Given the description of an element on the screen output the (x, y) to click on. 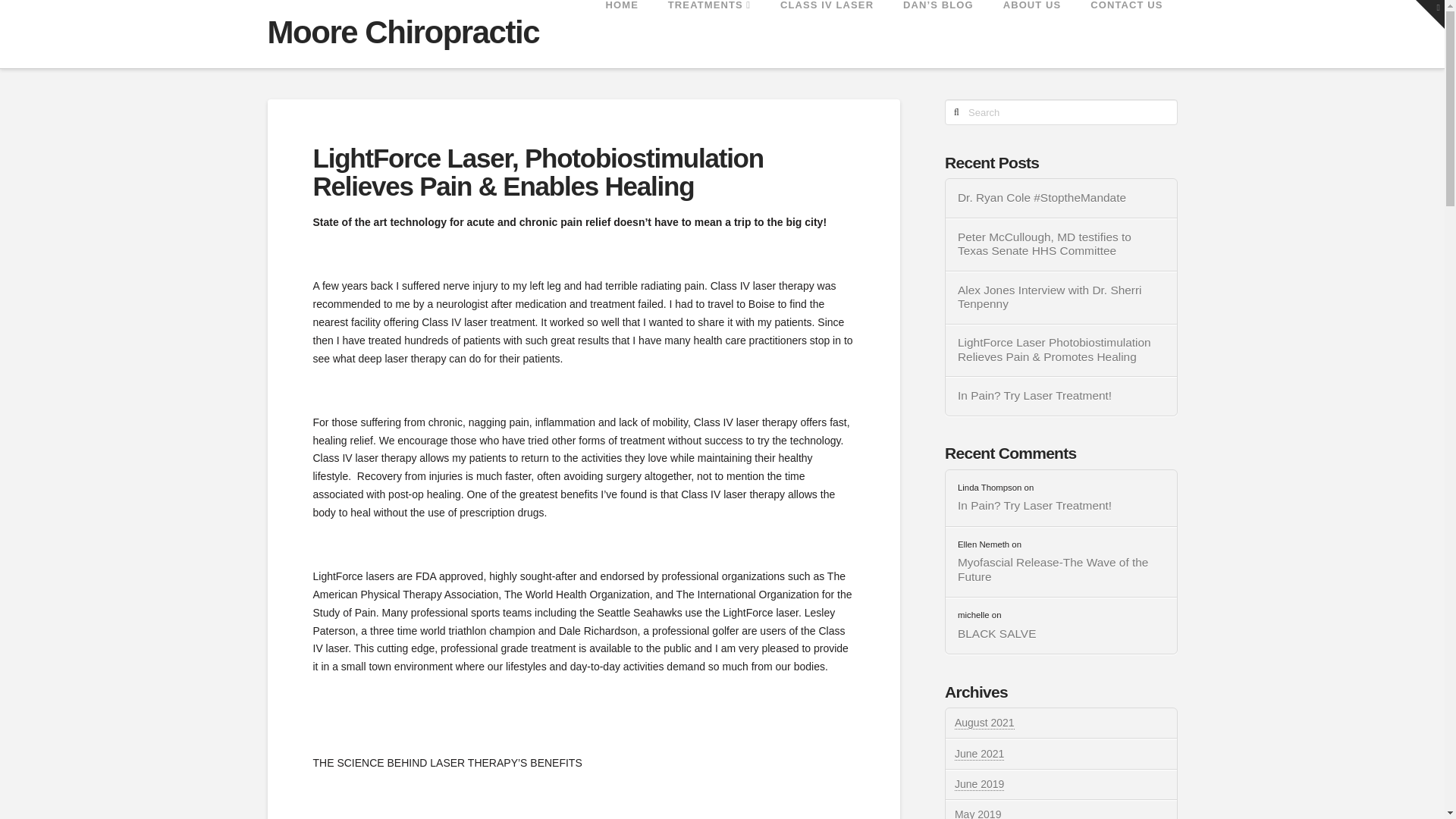
In Pain? Try Laser Treatment! (1061, 505)
In Pain? Try Laser Treatment! (1061, 396)
June 2019 (979, 784)
August 2021 (984, 722)
June 2021 (979, 753)
Peter McCullough, MD testifies to Texas Senate HHS Committee (1061, 244)
CONTACT US (1125, 33)
CLASS IV LASER (826, 33)
BLACK SALVE (1061, 634)
ABOUT US (1031, 33)
Moore Chiropractic (402, 32)
HOME (620, 33)
Alex Jones Interview with Dr. Sherri Tenpenny (1061, 297)
TREATMENTS (708, 33)
Myofascial Release-The Wave of the Future (1061, 569)
